Given the description of an element on the screen output the (x, y) to click on. 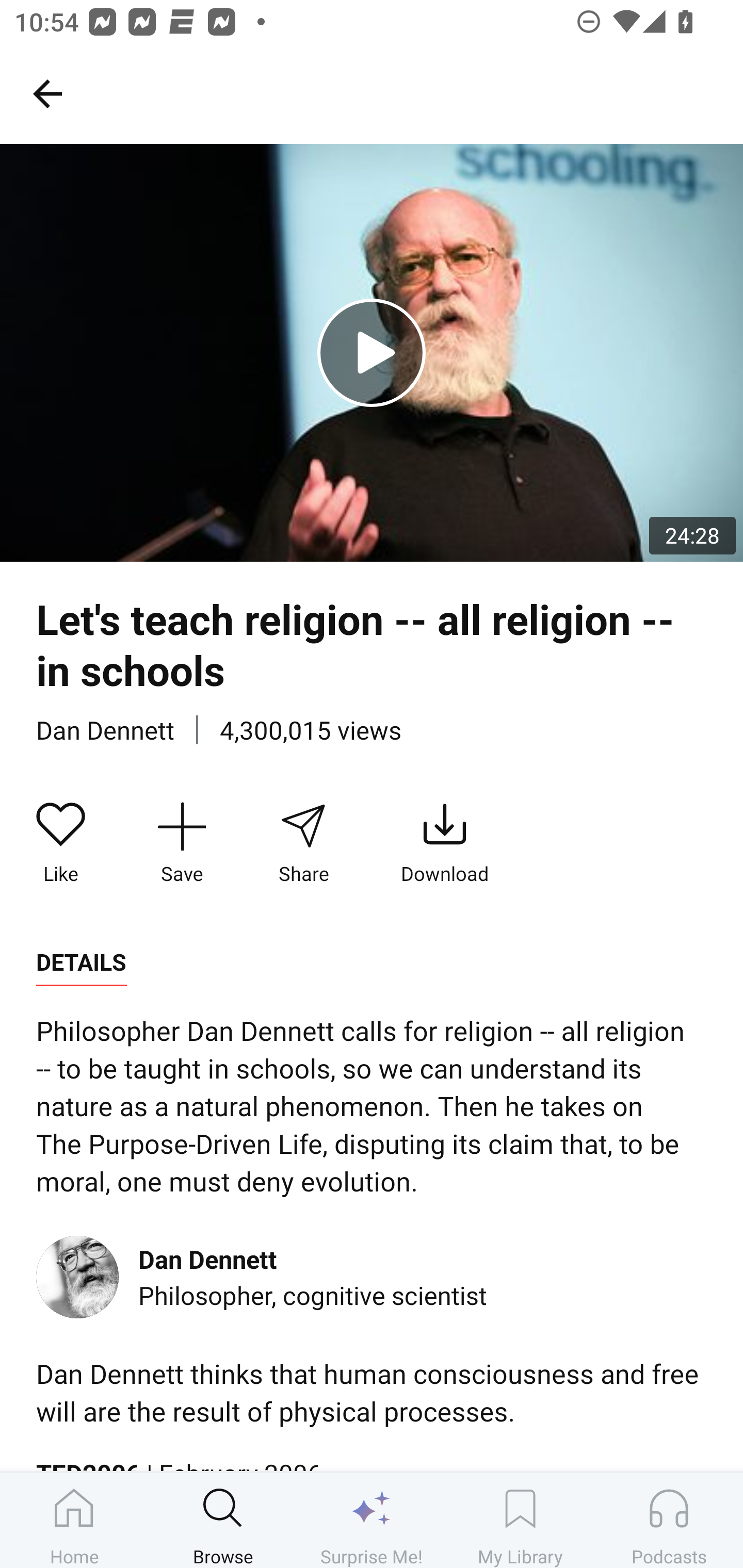
Go back (47, 92)
Like (60, 843)
Save (181, 843)
Share (302, 843)
Download (444, 843)
DETAILS (80, 962)
Home (74, 1520)
Browse (222, 1520)
Surprise Me! (371, 1520)
My Library (519, 1520)
Podcasts (668, 1520)
